Given the description of an element on the screen output the (x, y) to click on. 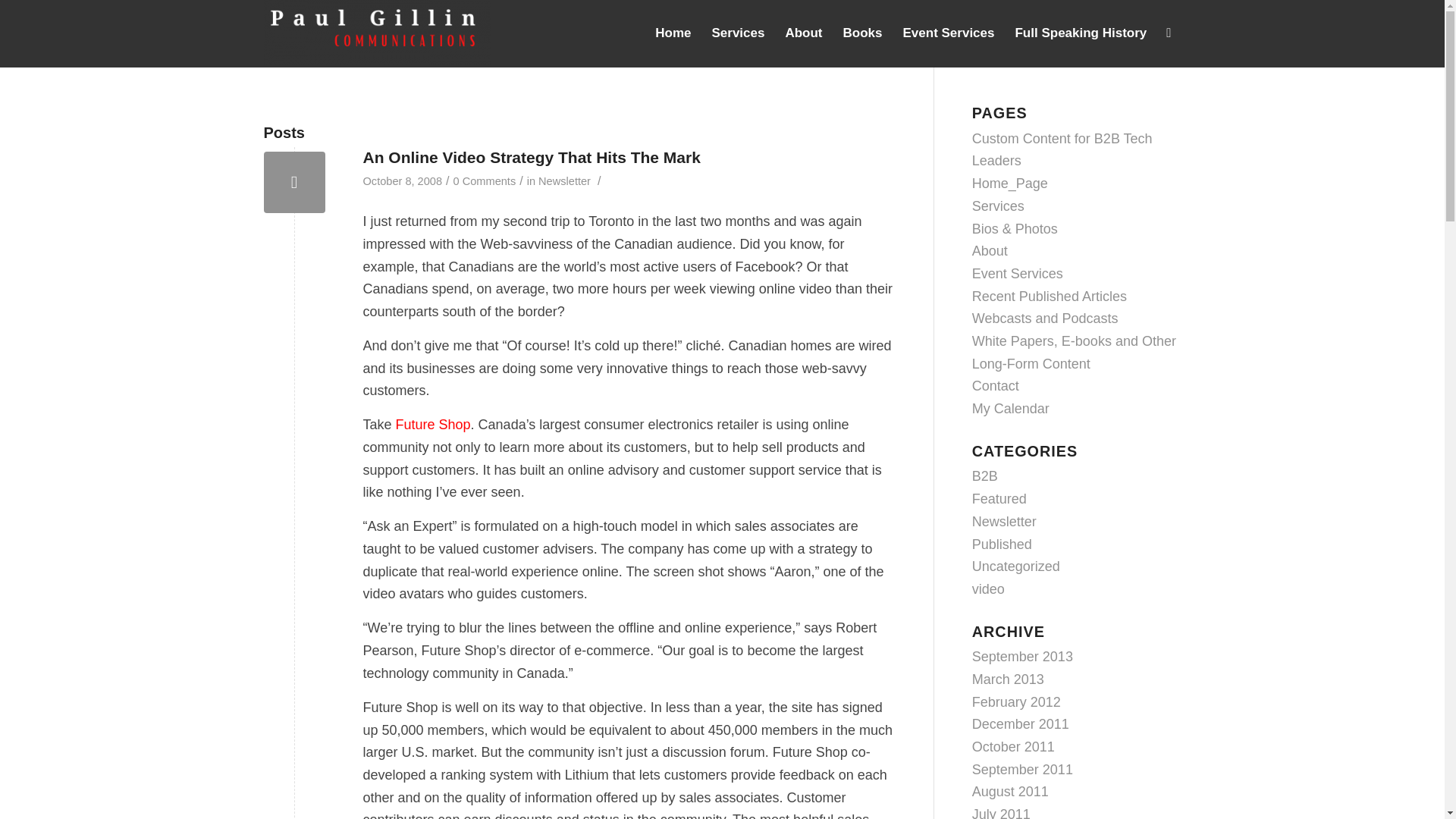
Books (862, 33)
Permanent Link: An Online Video Strategy That Hits The Mark (531, 157)
An Online Video Strategy That Hits The Mark (531, 157)
Newsletter (564, 181)
Future Shop (433, 424)
0 Comments (484, 181)
Full Speaking History (1080, 33)
An Online Video Strategy That Hits The Mark (293, 181)
Event Services (947, 33)
Custom Content for B2B Tech Leaders (1062, 149)
Services (737, 33)
